Given the description of an element on the screen output the (x, y) to click on. 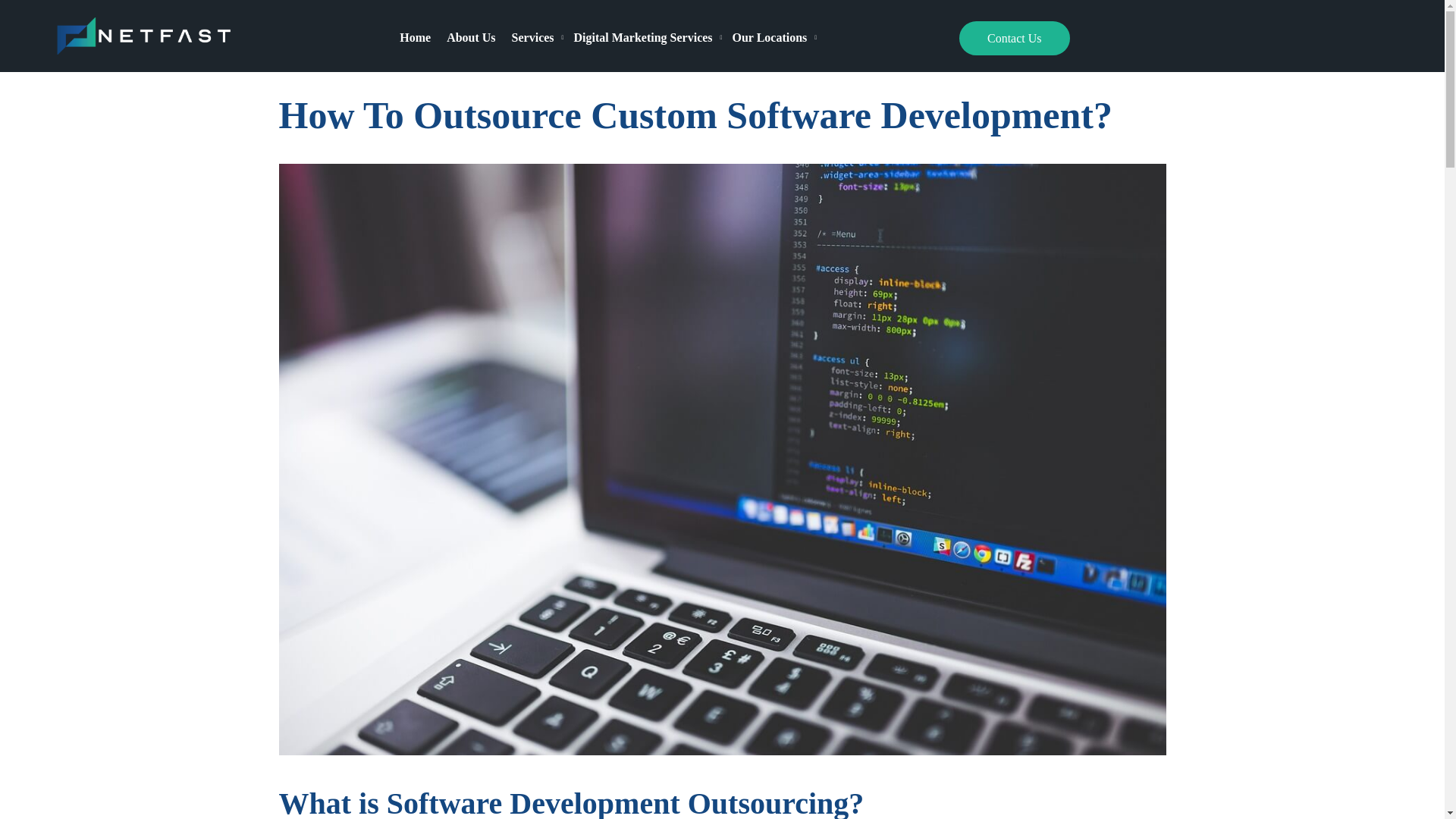
About Us (474, 36)
Digital Marketing Services (649, 36)
